Given the description of an element on the screen output the (x, y) to click on. 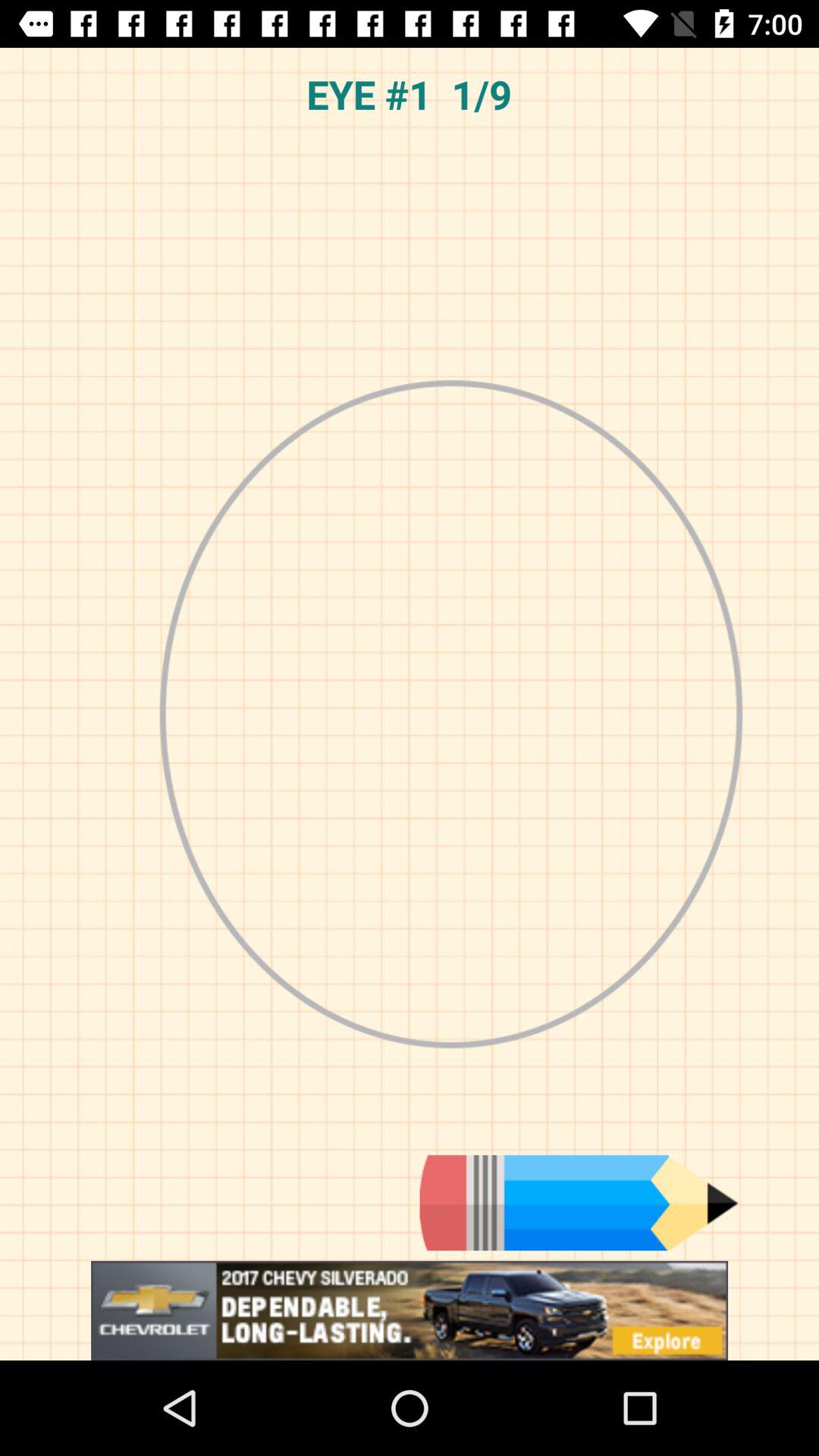
toggle pencil option (578, 1202)
